Given the description of an element on the screen output the (x, y) to click on. 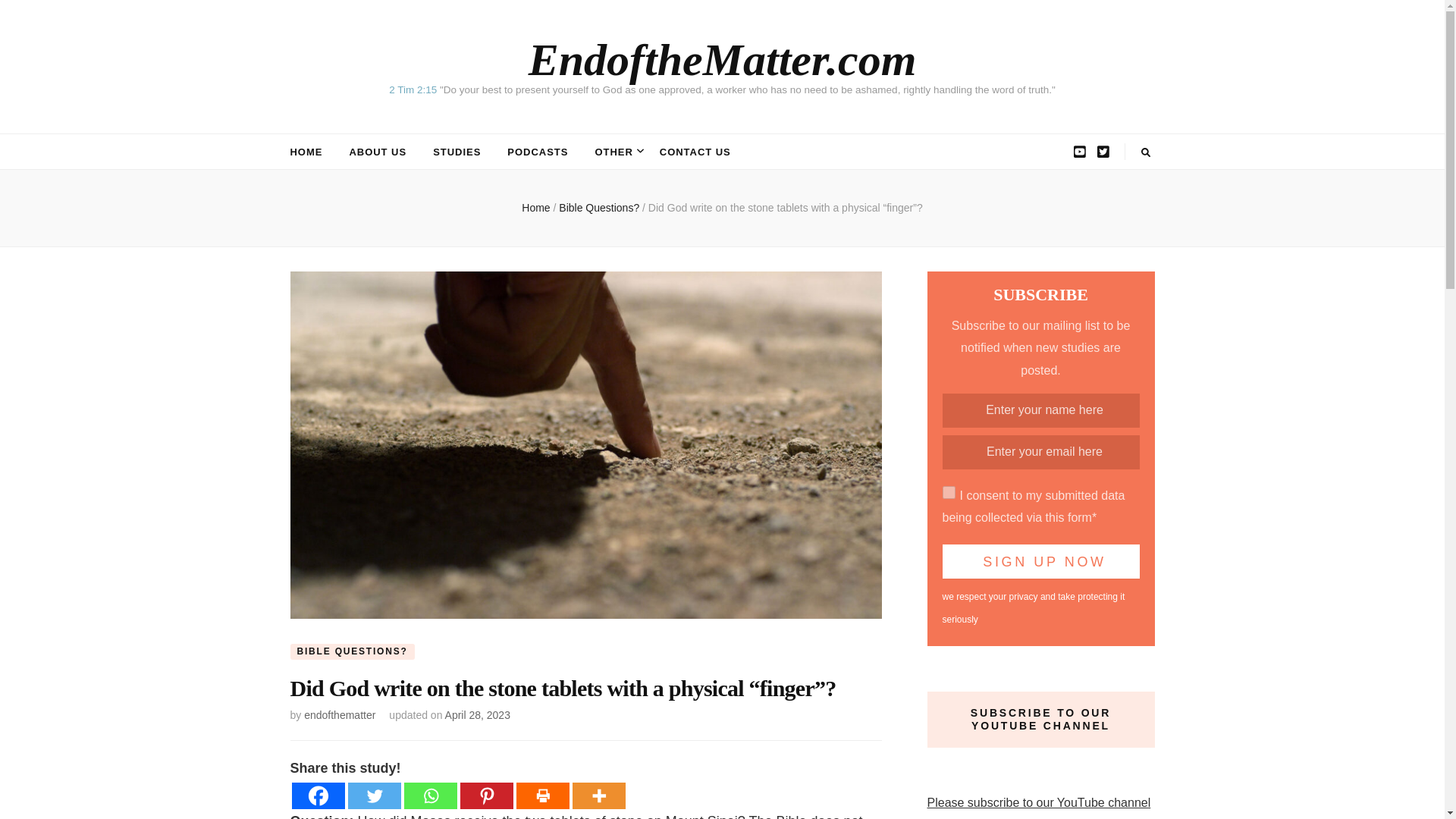
CONTACT US (694, 151)
Twitter (373, 795)
Sign Up Now (1040, 561)
OTHER (612, 151)
Home (535, 207)
Facebook (317, 795)
2 Tim 2:15 (412, 89)
ABOUT US (377, 151)
Enter your email here (1040, 451)
BIBLE QUESTIONS? (351, 651)
STUDIES (456, 151)
EndoftheMatter.com (722, 60)
on (948, 492)
Enter your name here (1040, 410)
Pinterest (486, 795)
